Given the description of an element on the screen output the (x, y) to click on. 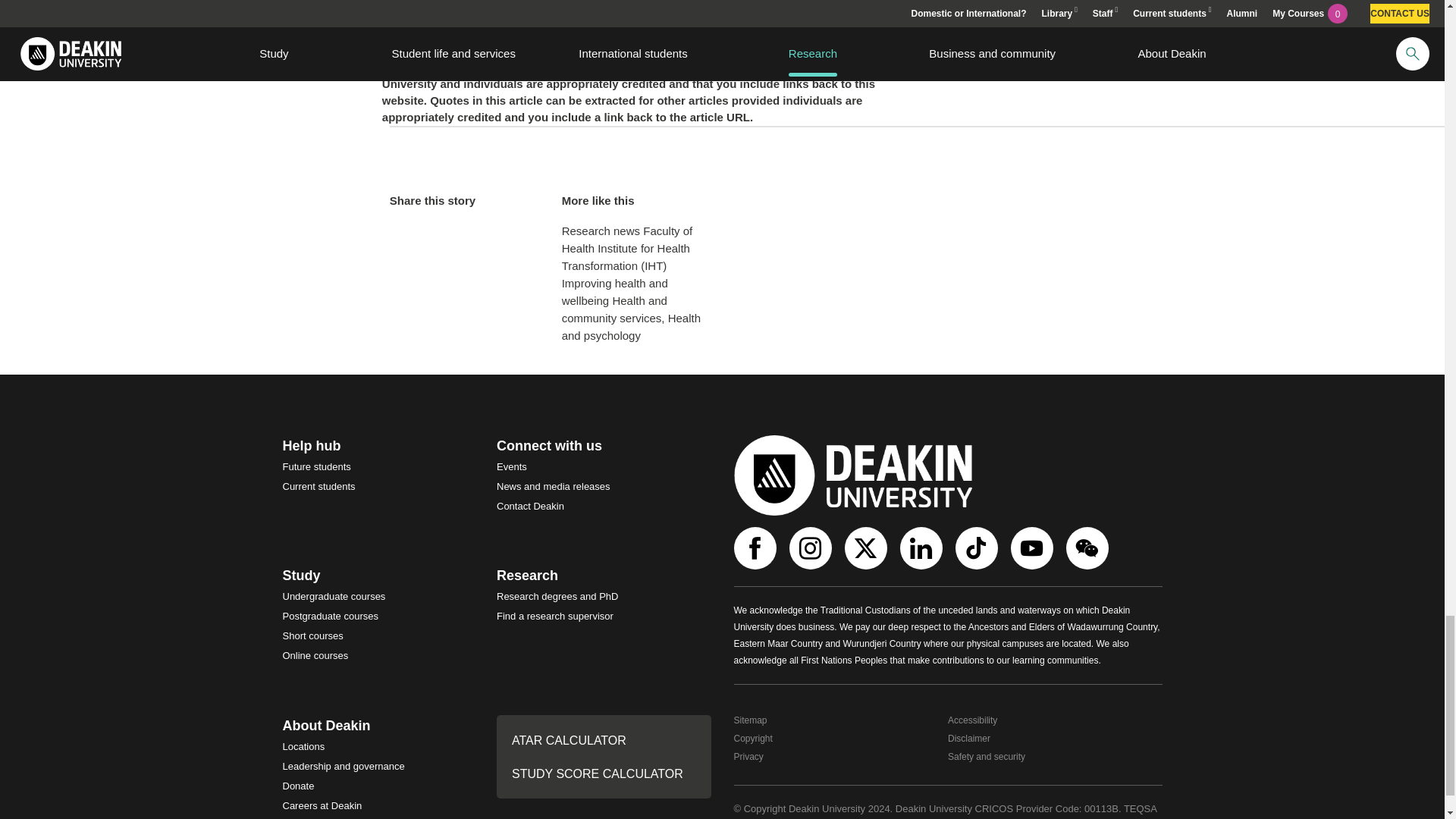
TikTok (978, 548)
Instagram (811, 548)
Linkedin (921, 548)
Youtube (1033, 548)
Facebook (756, 548)
WeChat - Deakin University (1088, 548)
Twitter (867, 548)
